Given the description of an element on the screen output the (x, y) to click on. 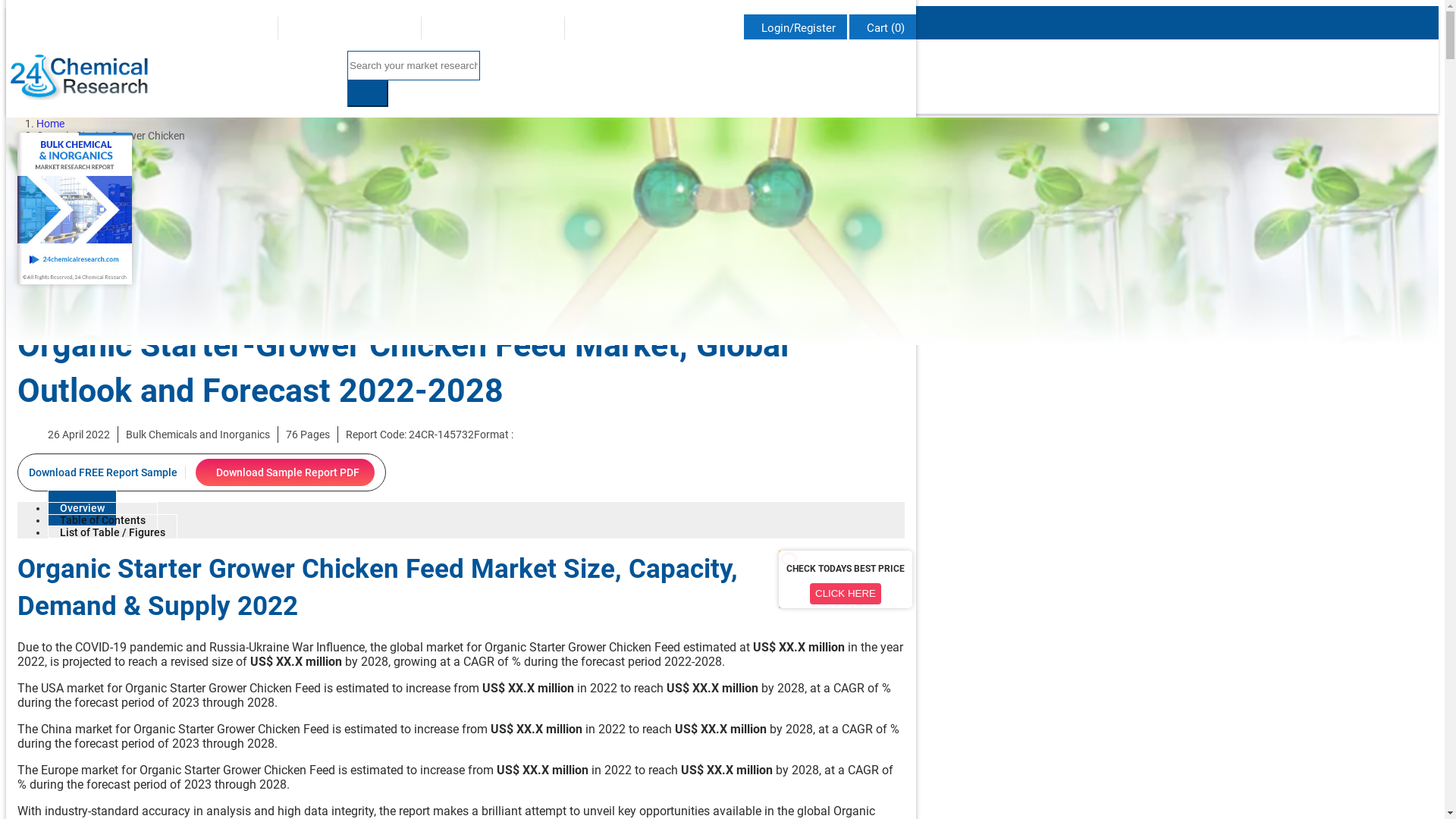
Home Element type: text (50, 123)
Table of Contents Element type: text (102, 520)
BLOG Element type: text (812, 121)
Excel Format Element type: hover (518, 434)
PDF Format Element type: hover (516, 434)
CATEGORY Element type: text (754, 121)
Download Sample Report PDF Element type: text (284, 472)
CONTACT US Element type: text (876, 121)
HOME Element type: text (522, 121)
CLICK HERE Element type: text (845, 593)
Login/Register Element type: text (795, 26)
24Chemical Research Element type: hover (79, 75)
Cart (0) Element type: text (882, 26)
List of Table / Figures Element type: text (112, 532)
LATEST REPORTS Element type: text (666, 121)
ABOUT US Element type: text (579, 121)
Overview Element type: text (81, 507)
